Given the description of an element on the screen output the (x, y) to click on. 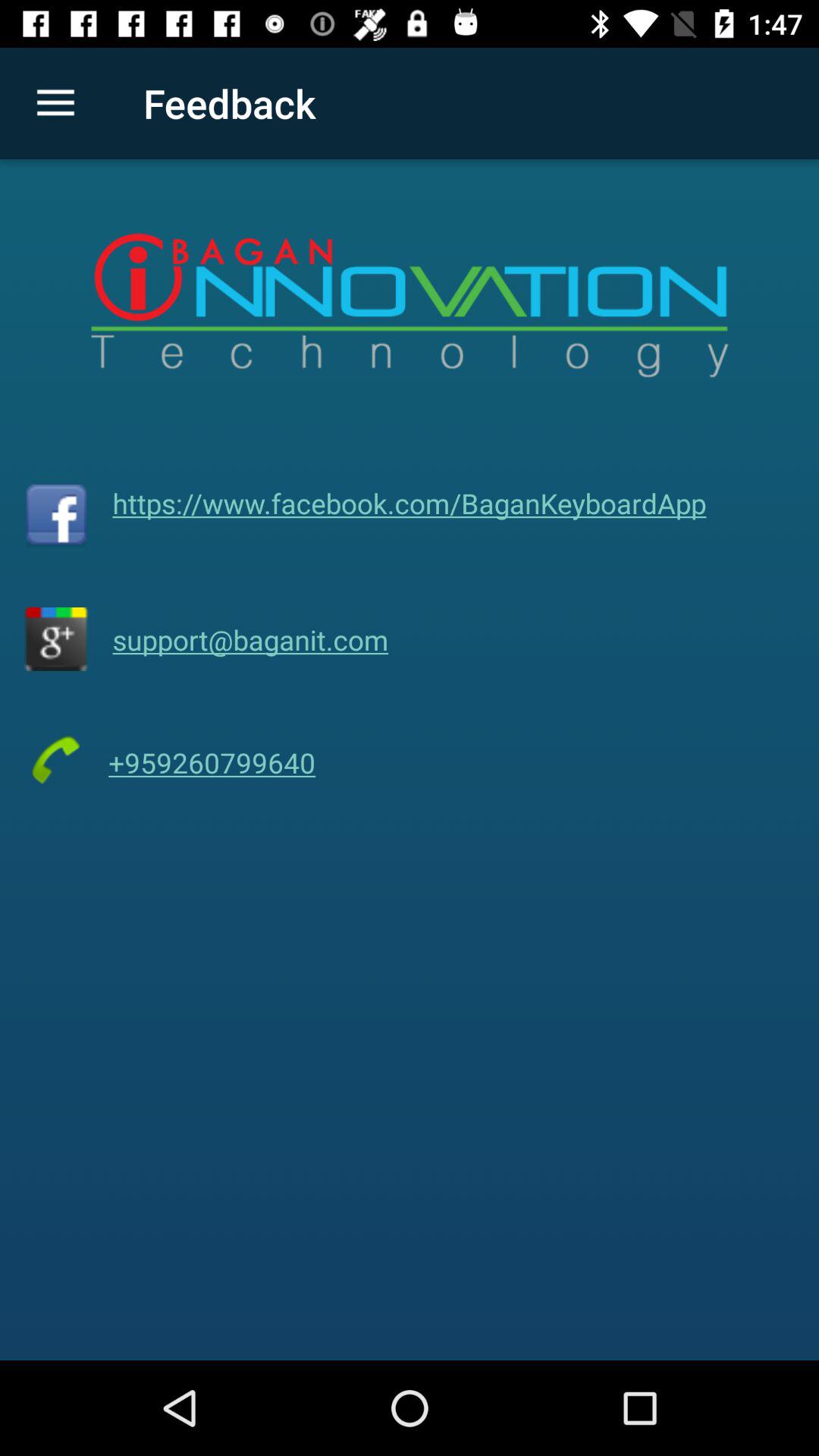
select the icon below support@baganit.com item (211, 762)
